Given the description of an element on the screen output the (x, y) to click on. 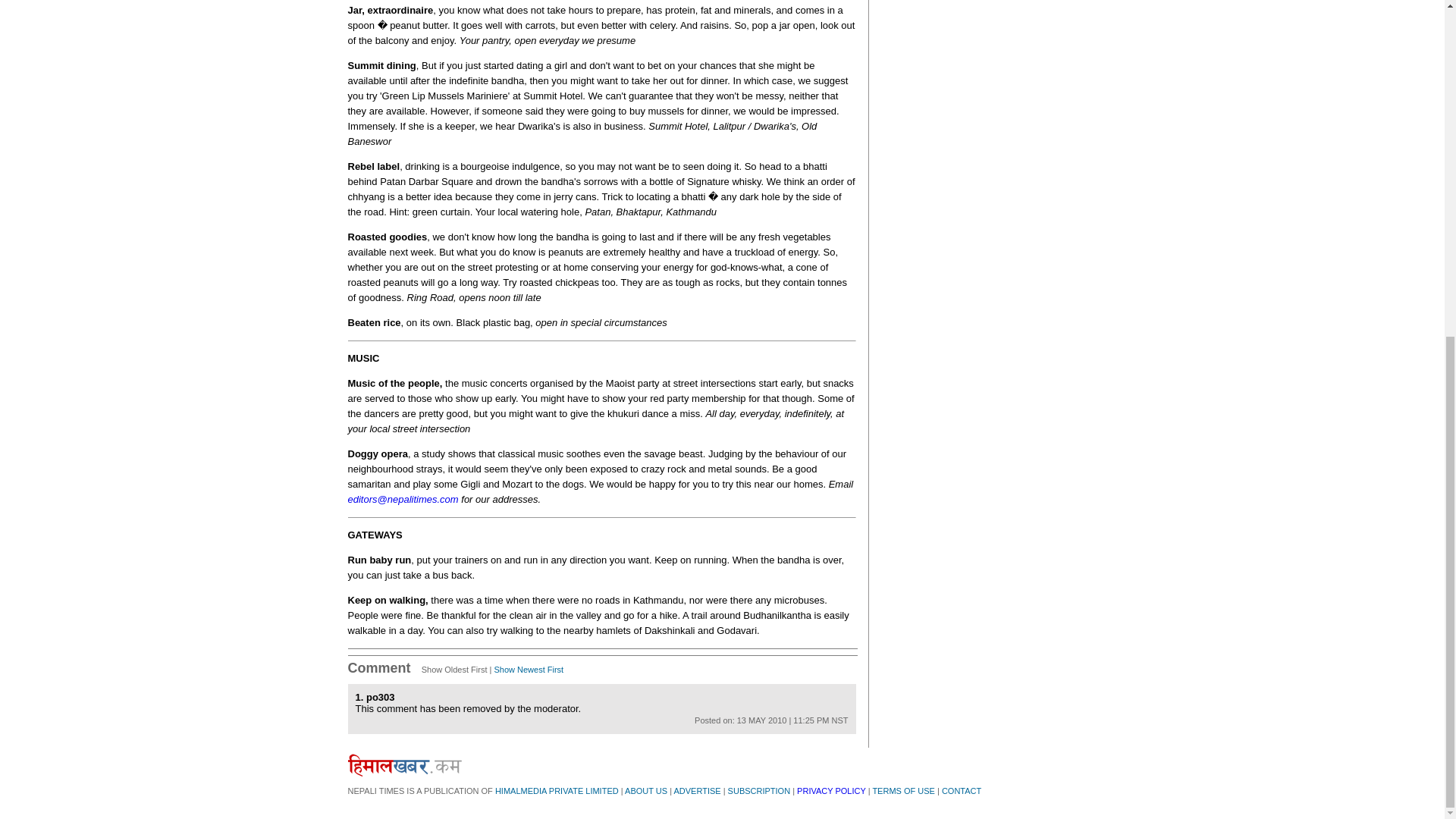
PRIVACY POLICY (830, 790)
TERMS OF USE (903, 790)
CONTACT (961, 790)
ABOUT US (645, 790)
himalkhabar.com (404, 764)
ADVERTISE (696, 790)
HIMALMEDIA PRIVATE LIMITED (556, 790)
Show Newest First (528, 669)
Show Newest First (528, 669)
SUBSCRIPTION (759, 790)
